Given the description of an element on the screen output the (x, y) to click on. 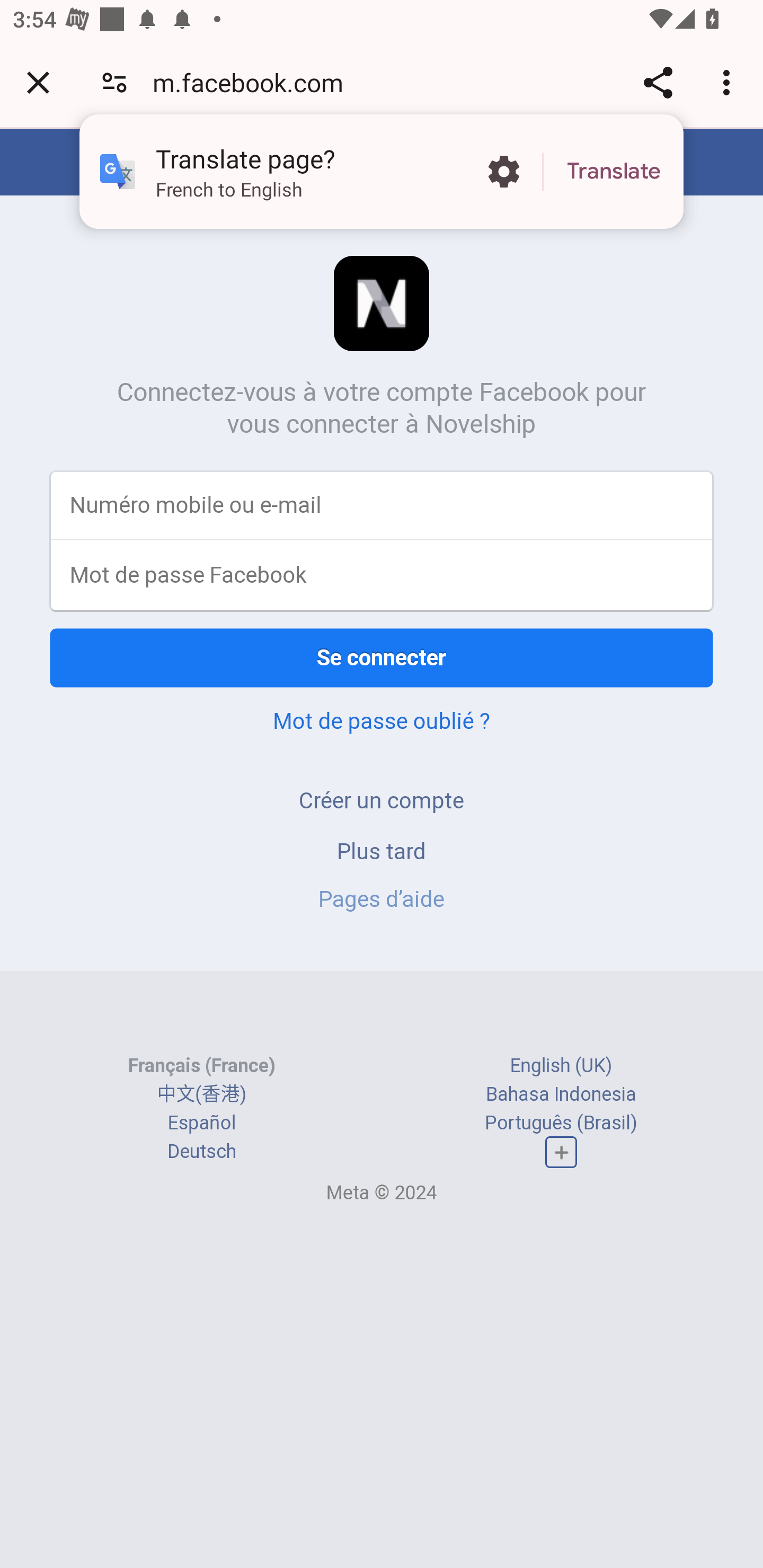
Close tab (38, 82)
Share (657, 82)
Customize and control Google Chrome (729, 82)
Connection is secure (114, 81)
m.facebook.com (254, 81)
Translate (613, 171)
More options in the Translate page? (503, 171)
Se connecter (381, 657)
Mot de passe oublié ? (381, 720)
Créer un compte (381, 800)
Plus tard (381, 850)
Pages d’aide (381, 898)
English (UK) (560, 1065)
中文(香港) (201, 1093)
Bahasa Indonesia (560, 1093)
Español (201, 1122)
Português (Brasil) (560, 1122)
Liste complète des langues (560, 1152)
Deutsch (201, 1151)
